Given the description of an element on the screen output the (x, y) to click on. 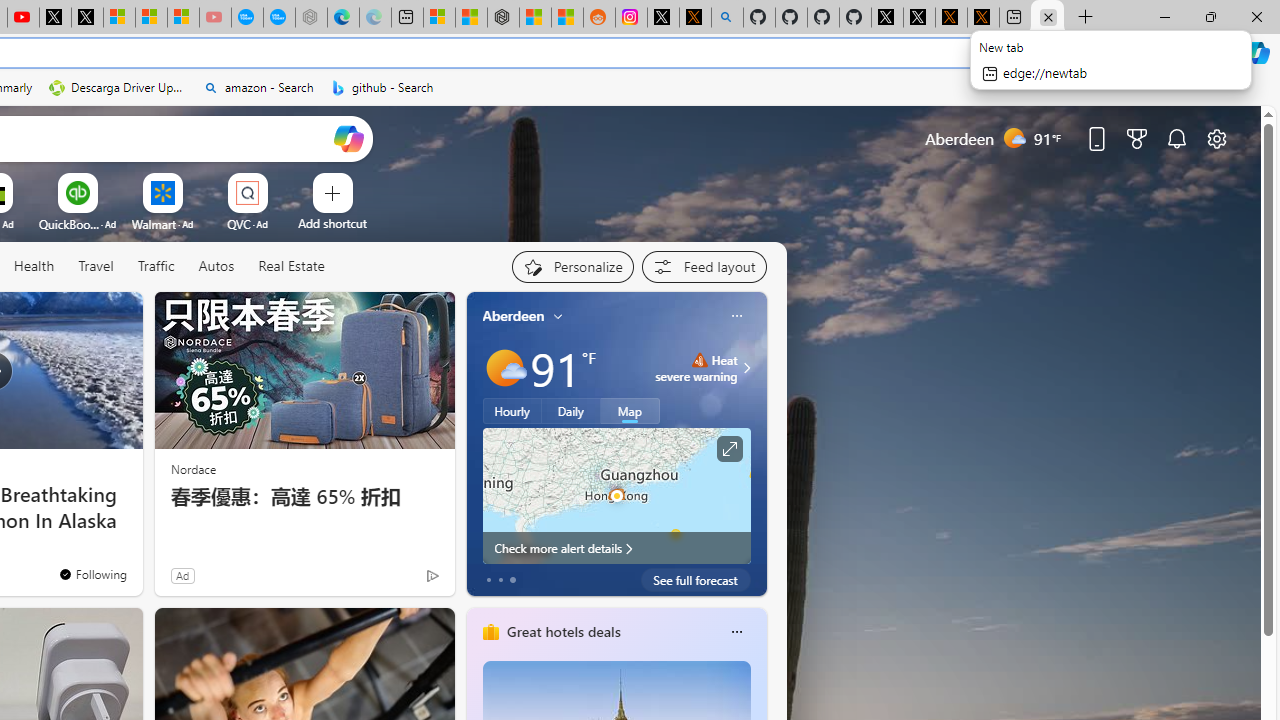
tab-2 (511, 579)
Click to see more information (728, 449)
Heat - Severe (699, 359)
Check more alert details (616, 547)
Great hotels deals (562, 631)
